Given the description of an element on the screen output the (x, y) to click on. 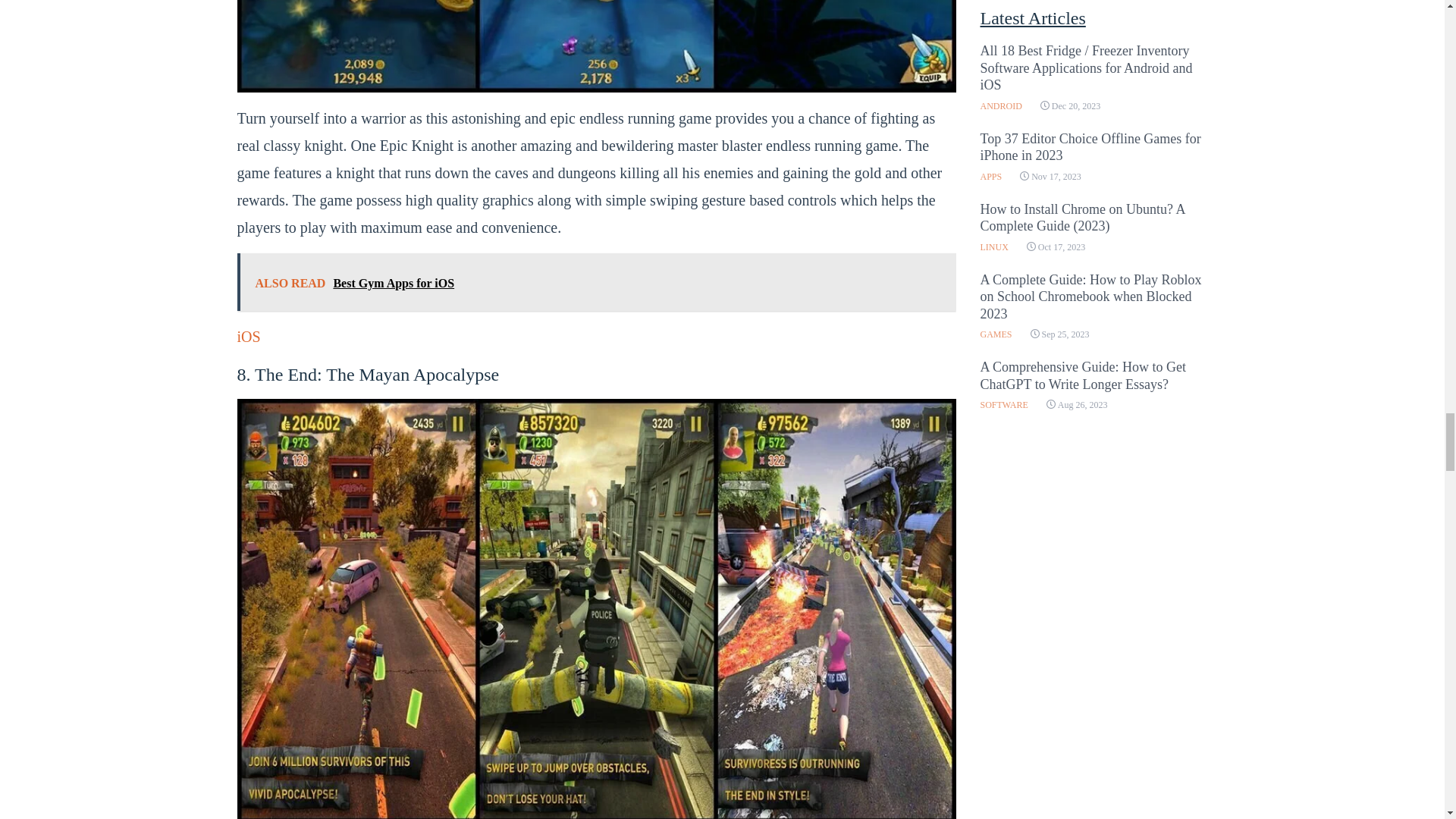
iOS (247, 336)
ALSO READ  Best Gym Apps for iOS (595, 282)
